Given the description of an element on the screen output the (x, y) to click on. 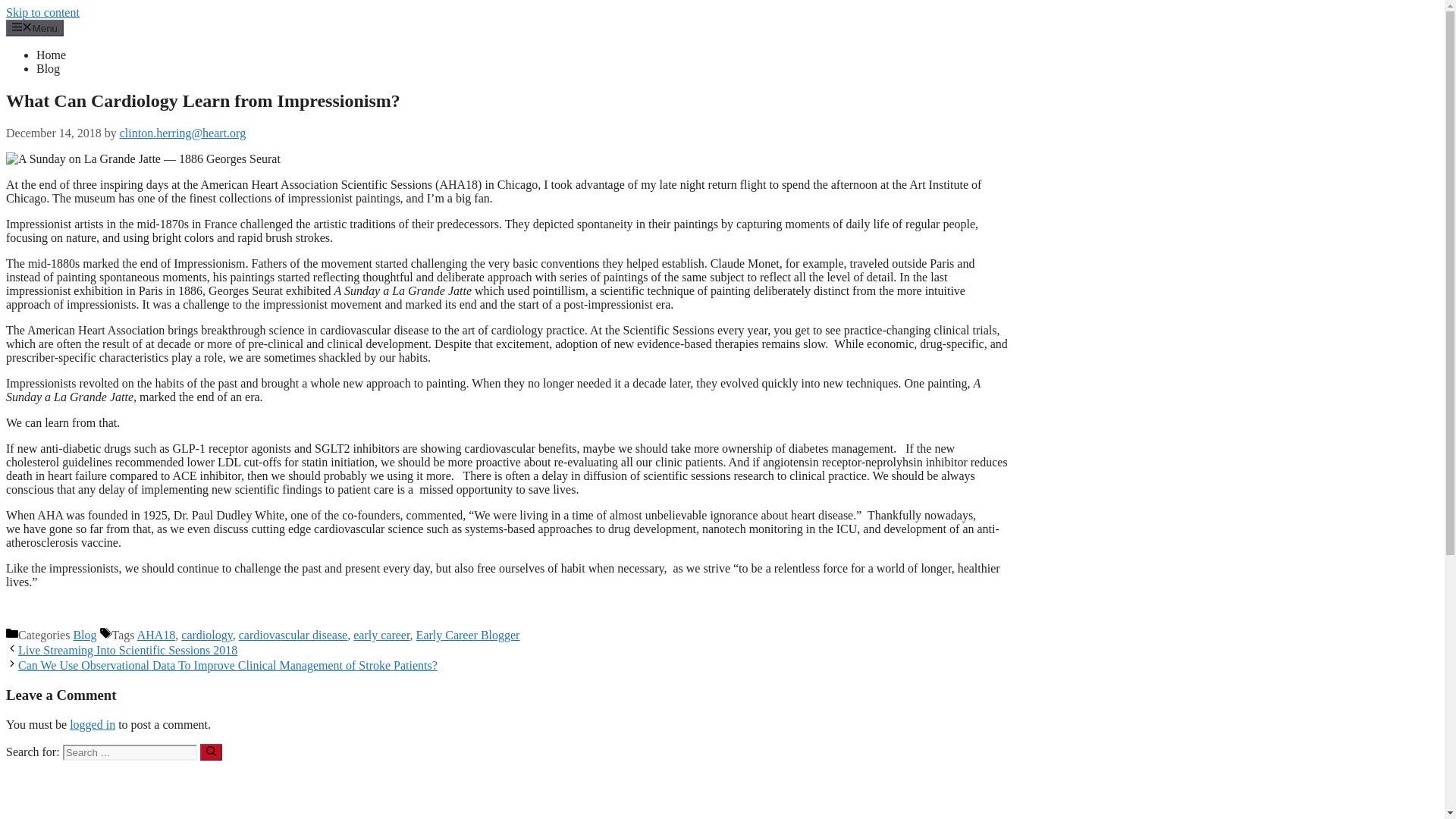
Menu (34, 27)
logged in (92, 724)
Search for: (129, 752)
Live Streaming Into Scientific Sessions 2018 (127, 649)
Blog (84, 634)
early career (381, 634)
cardiology (205, 634)
AHA18 (156, 634)
Early Career Blogger (467, 634)
